Given the description of an element on the screen output the (x, y) to click on. 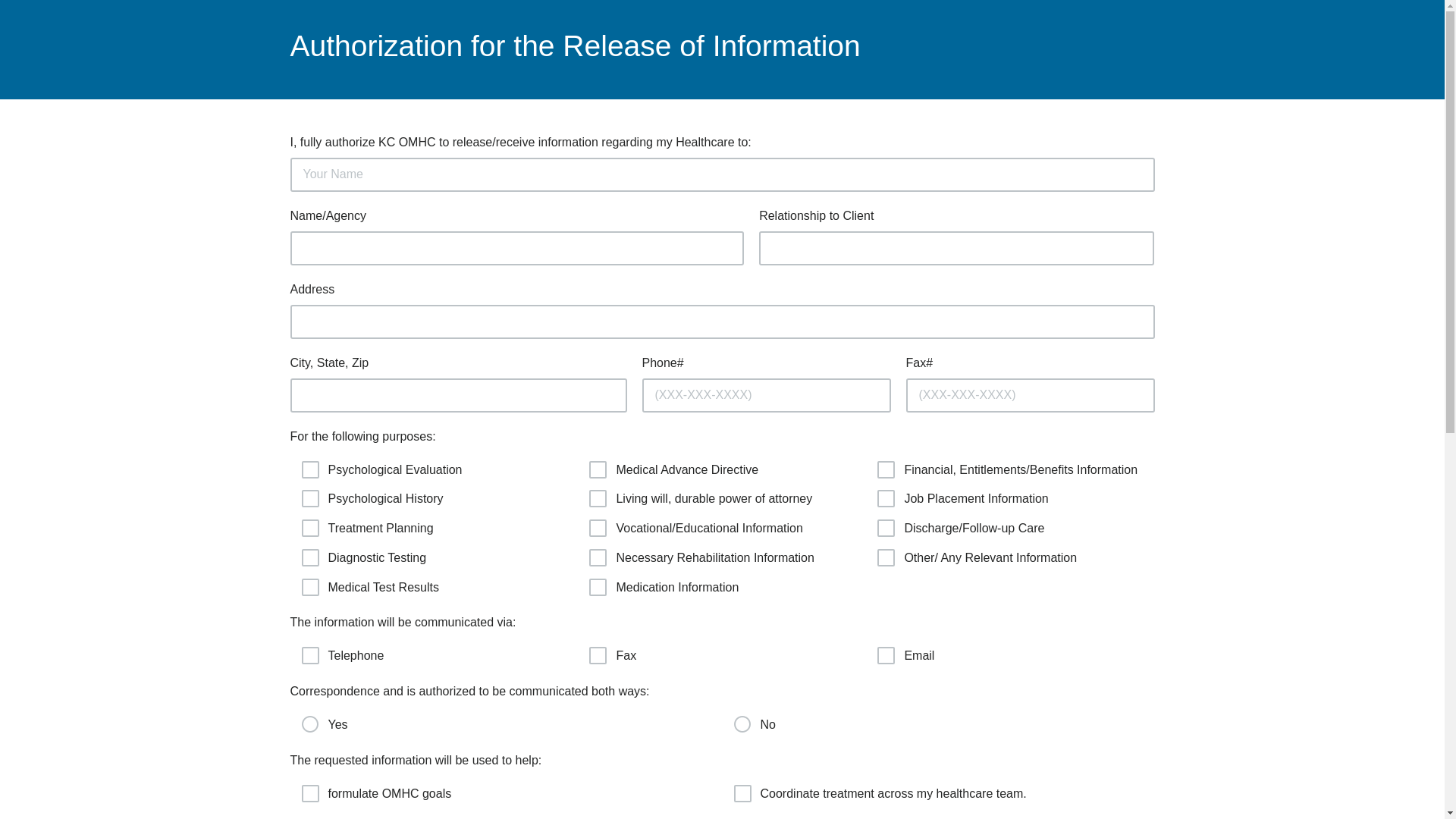
Medical Test Results (308, 584)
Psychological History (308, 495)
Medical Advance Directive (595, 466)
Treatment Planning (308, 525)
Diagnostic Testing (308, 554)
Medication Information (595, 584)
Job Placement Information (884, 495)
Necessary Rehabilitation Information (595, 554)
Living will, durable power of attorney (595, 495)
Psychological Evaluation (308, 466)
